Given the description of an element on the screen output the (x, y) to click on. 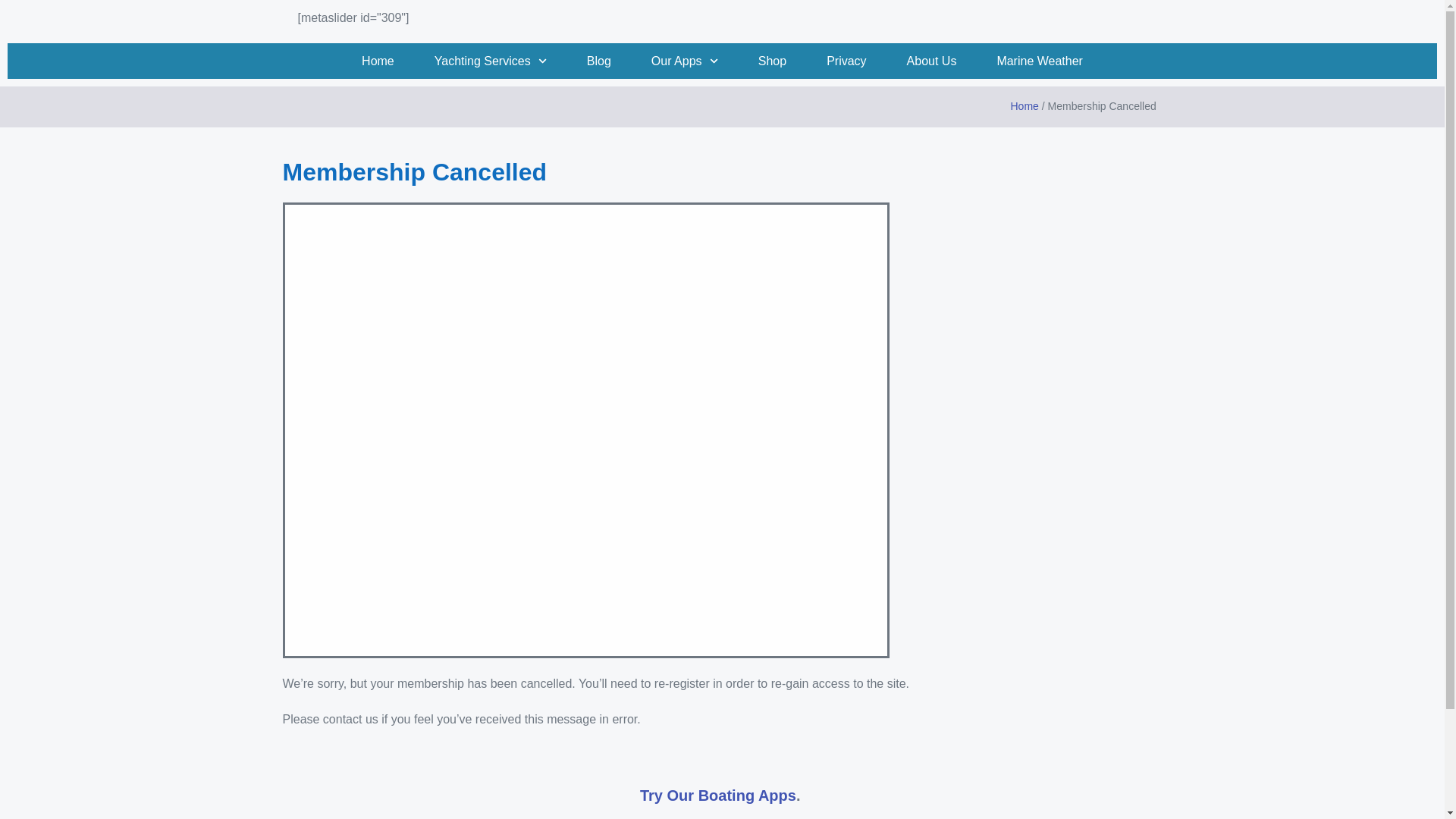
Yachting Services (490, 60)
Blog (598, 60)
Shop (772, 60)
Try Our Boating Apps (718, 795)
Home (377, 60)
Home (1024, 105)
Our Apps (684, 60)
Marine Weather (1039, 60)
About Us (932, 60)
Privacy (845, 60)
